Given the description of an element on the screen output the (x, y) to click on. 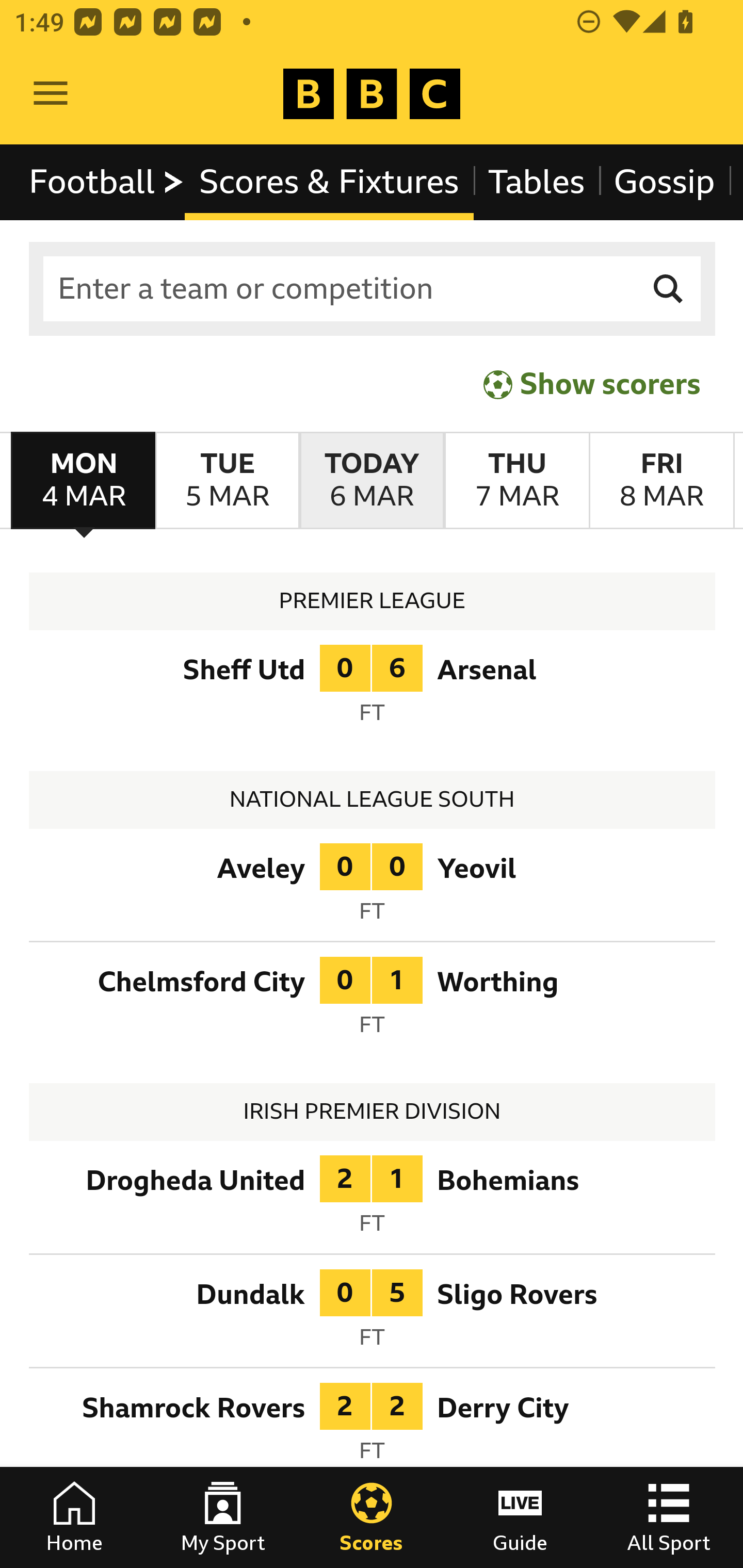
Open Menu (50, 93)
Football  (106, 181)
Scores & Fixtures (329, 181)
Tables (536, 181)
Gossip (664, 181)
Search (669, 289)
Show scorers (591, 383)
TuesdayMarch 5th Tuesday March 5th (227, 480)
TodayMarch 6th Today March 6th (371, 480)
ThursdayMarch 7th Thursday March 7th (516, 480)
FridayMarch 8th Friday March 8th (661, 480)
68399653 Sheffield United 0 Arsenal 6 Full Time (372, 689)
Home (74, 1517)
My Sport (222, 1517)
Guide (519, 1517)
All Sport (668, 1517)
